Given the description of an element on the screen output the (x, y) to click on. 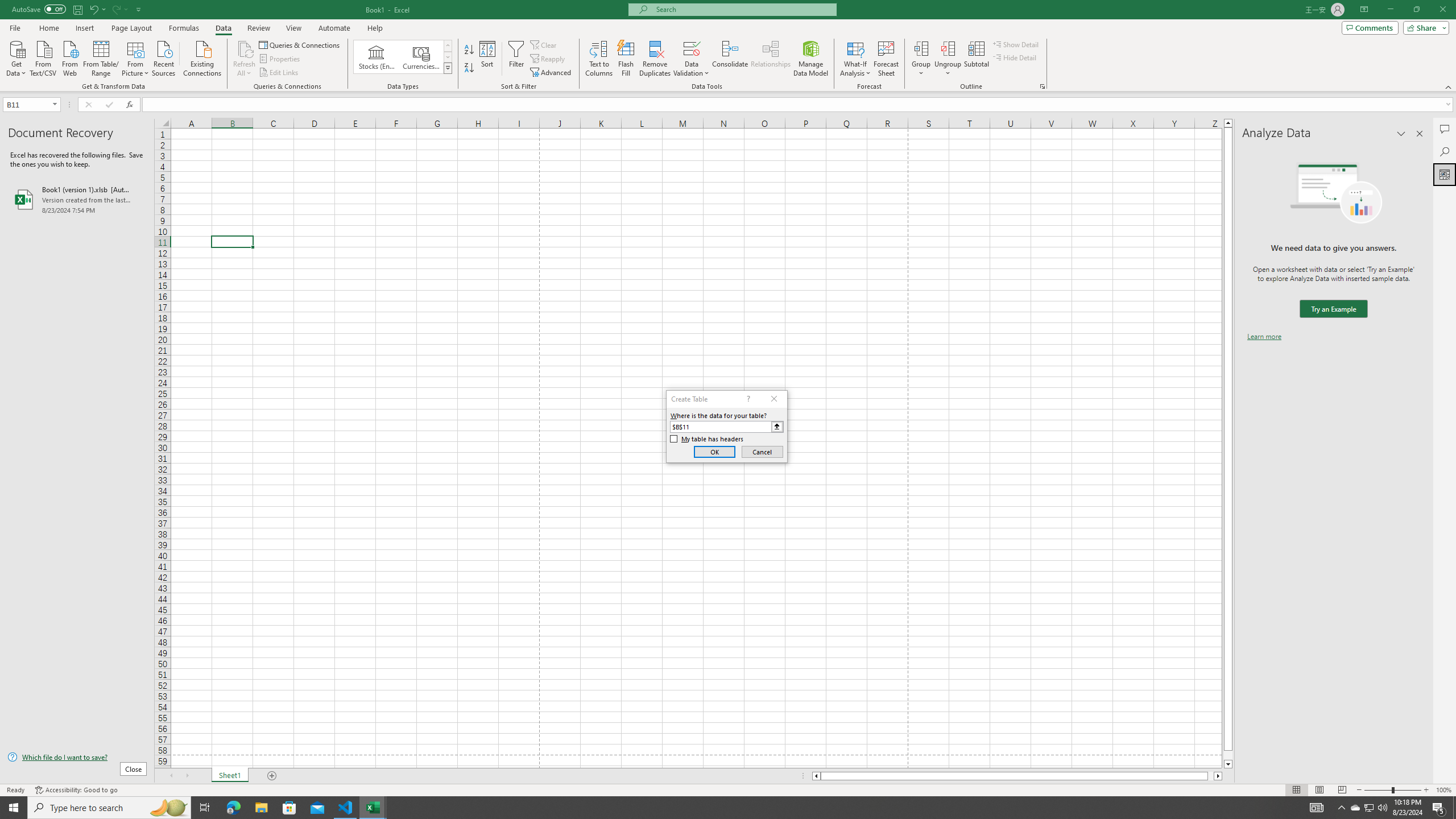
Consolidate... (729, 58)
